Given the description of an element on the screen output the (x, y) to click on. 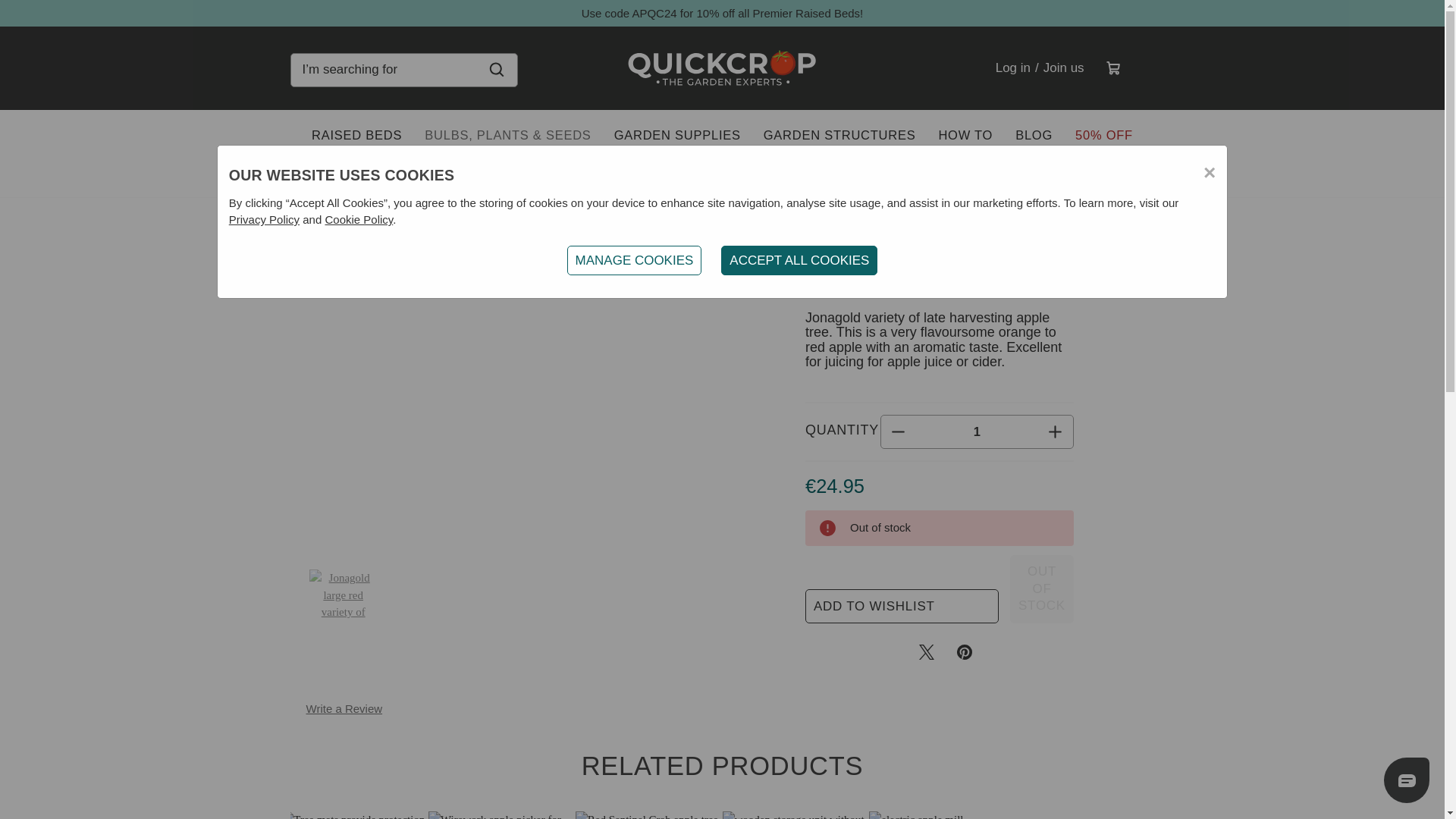
Quickcrop main logo (721, 67)
GARDEN SUPPLIES (677, 135)
Red Sentinel Crab apple tree (648, 815)
Log in (1012, 67)
electric apple mill (942, 815)
1 (976, 431)
Jonagold large red variety of apple (342, 594)
wooden storage unit without fruit or vegetables open (795, 815)
Tree mats provide protection to young trees and saplings (354, 815)
Wirework apple picker for harvesting apples from trees (501, 815)
RAISED BEDS (356, 135)
Quickcrop IE (721, 70)
Join us (1062, 67)
